Given the description of an element on the screen output the (x, y) to click on. 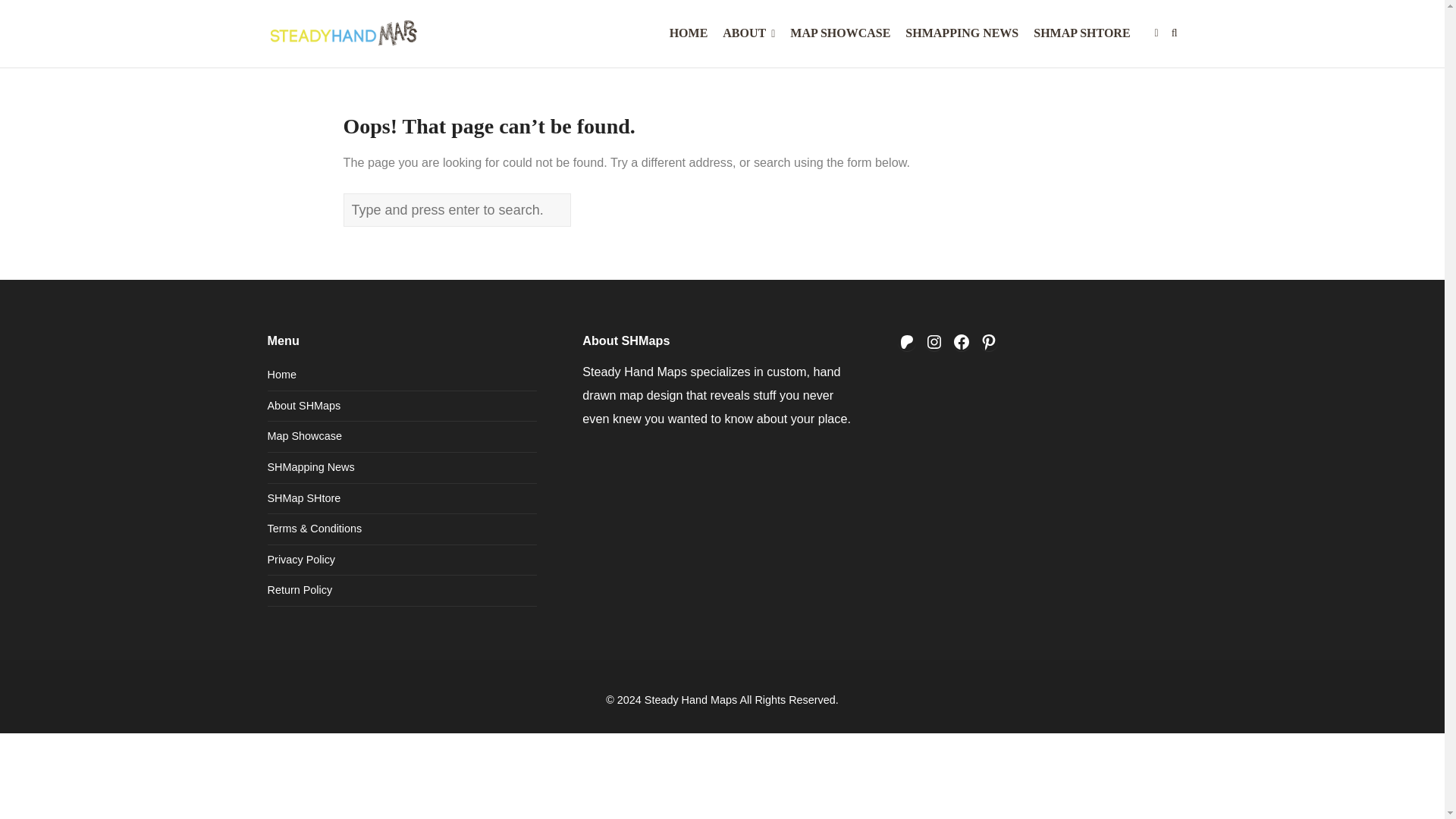
Privacy Policy (300, 559)
Map Showcase (303, 435)
Steady Hand Maps (690, 699)
About SHMaps (303, 405)
MAP SHOWCASE (840, 33)
Return Policy (298, 589)
Patreon for Jen Urso (906, 341)
SHMap SHtore (303, 498)
SHMAPPING NEWS (962, 33)
ABOUT (748, 33)
Pinterest (988, 341)
Home (280, 374)
SHMaps Instagram (933, 341)
SHMAP SHTORE (1081, 33)
SHMapping News (309, 467)
